Given the description of an element on the screen output the (x, y) to click on. 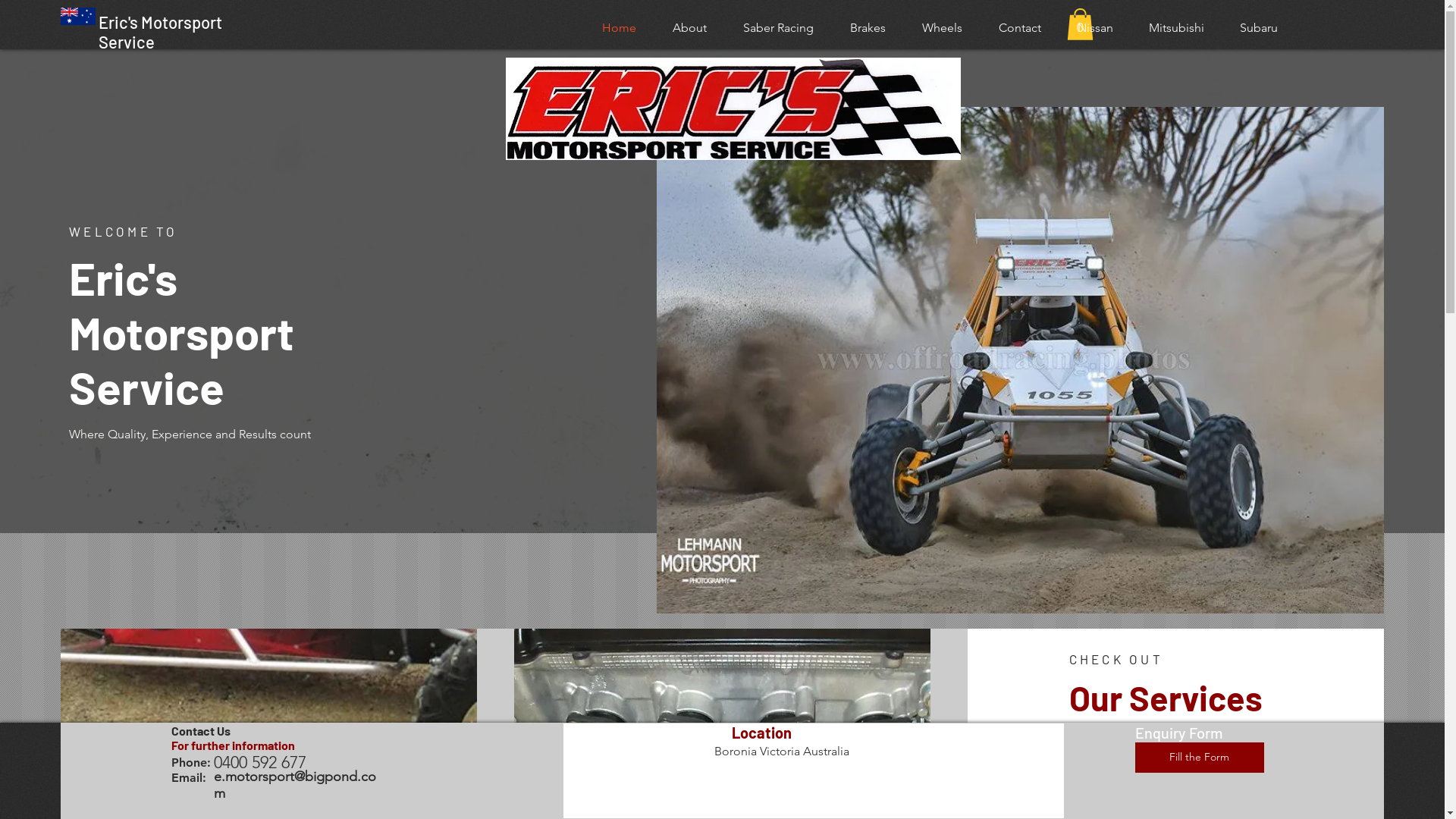
e.motorsport@bigpond.com Element type: text (294, 784)
Contact Element type: text (1019, 27)
Fill the Form Element type: text (1199, 757)
About Element type: text (689, 27)
Wheels Element type: text (941, 27)
Eric's Motorsport Service Element type: text (160, 31)
Nissan Element type: text (1094, 27)
Mitsubishi Element type: text (1175, 27)
Brakes Element type: text (867, 27)
Subaru Element type: text (1258, 27)
Home Element type: text (618, 27)
0 Element type: text (1079, 24)
Saber Racing Element type: text (777, 27)
